Given the description of an element on the screen output the (x, y) to click on. 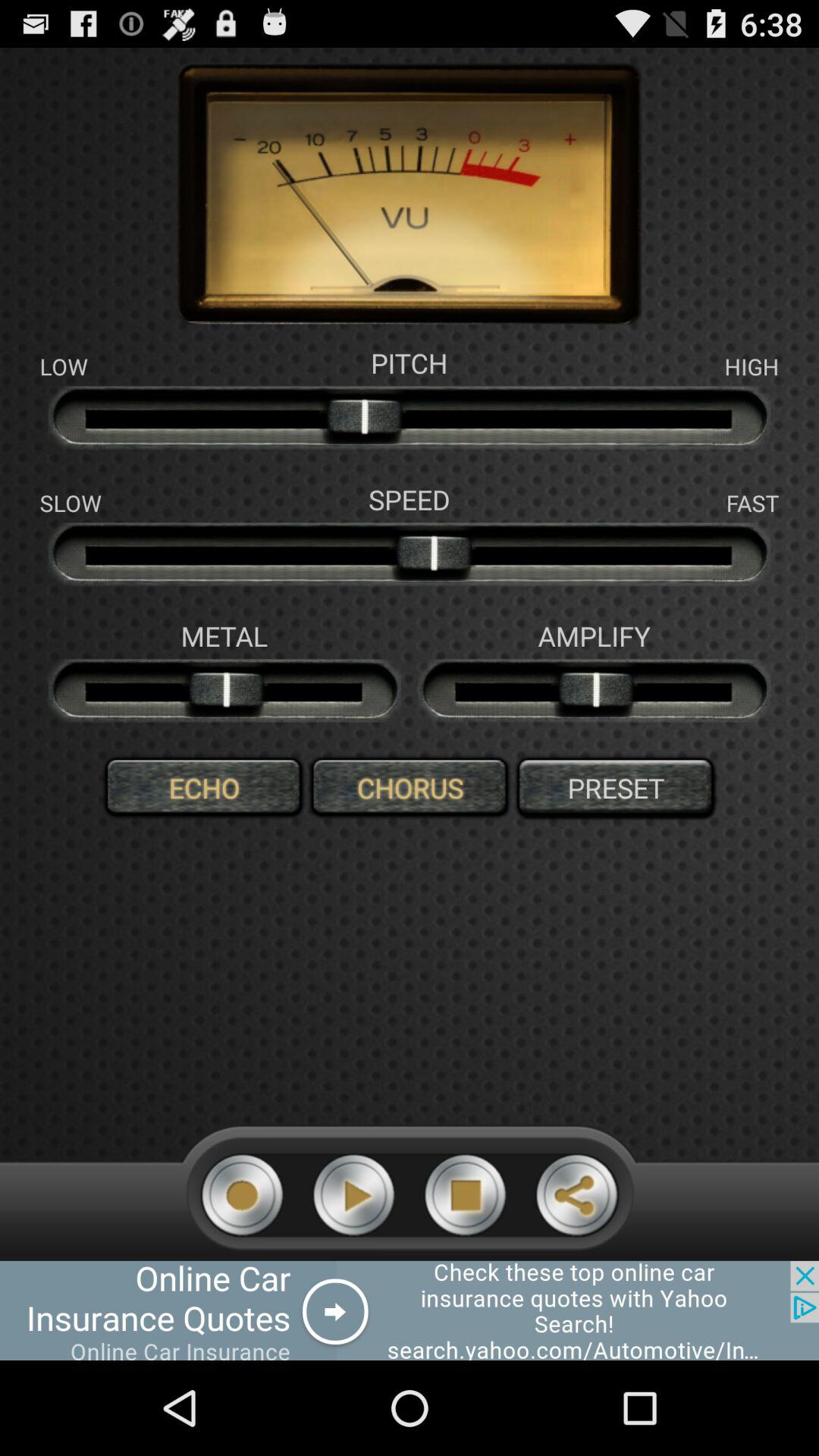
open (409, 1310)
